Given the description of an element on the screen output the (x, y) to click on. 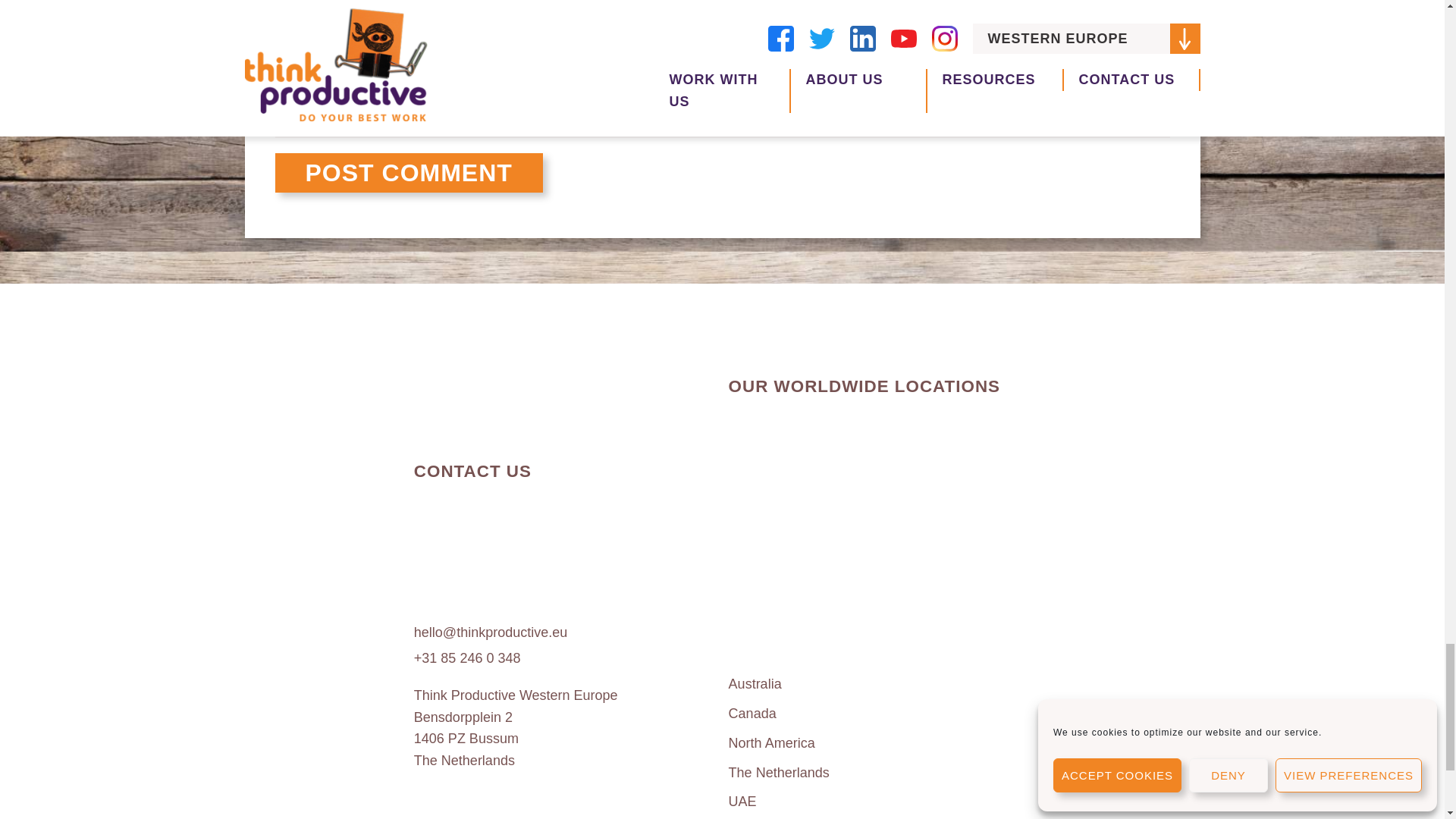
Post Comment (408, 172)
